Given the description of an element on the screen output the (x, y) to click on. 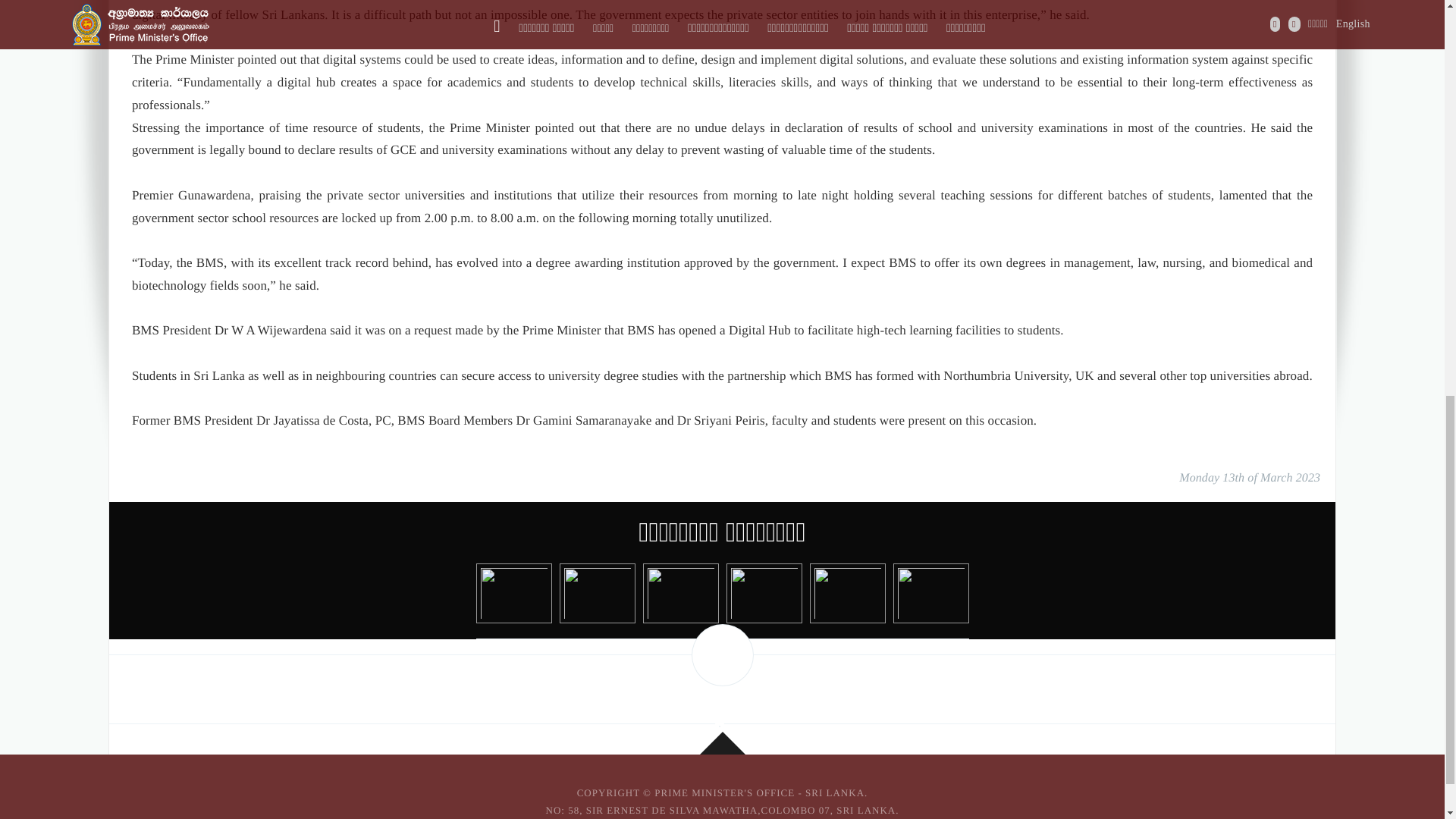
Monday 13th of March 2023 (1249, 477)
BACK (721, 654)
